Given the description of an element on the screen output the (x, y) to click on. 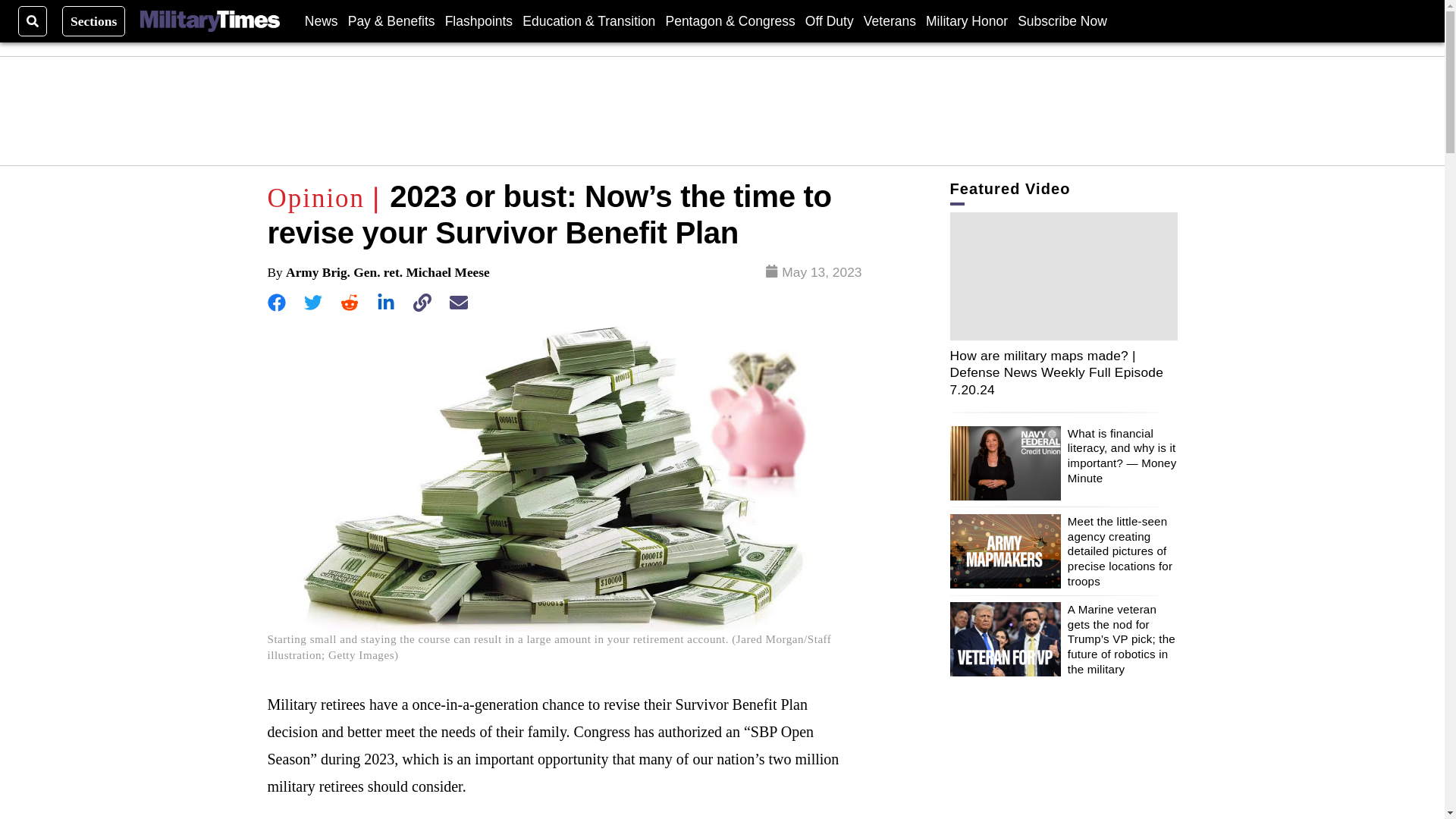
Veterans (889, 20)
Sections (93, 20)
News (320, 20)
Off Duty (829, 20)
3rd party ad content (722, 110)
Military Honor (966, 20)
Military Times Logo (209, 20)
Flashpoints (479, 20)
